Given the description of an element on the screen output the (x, y) to click on. 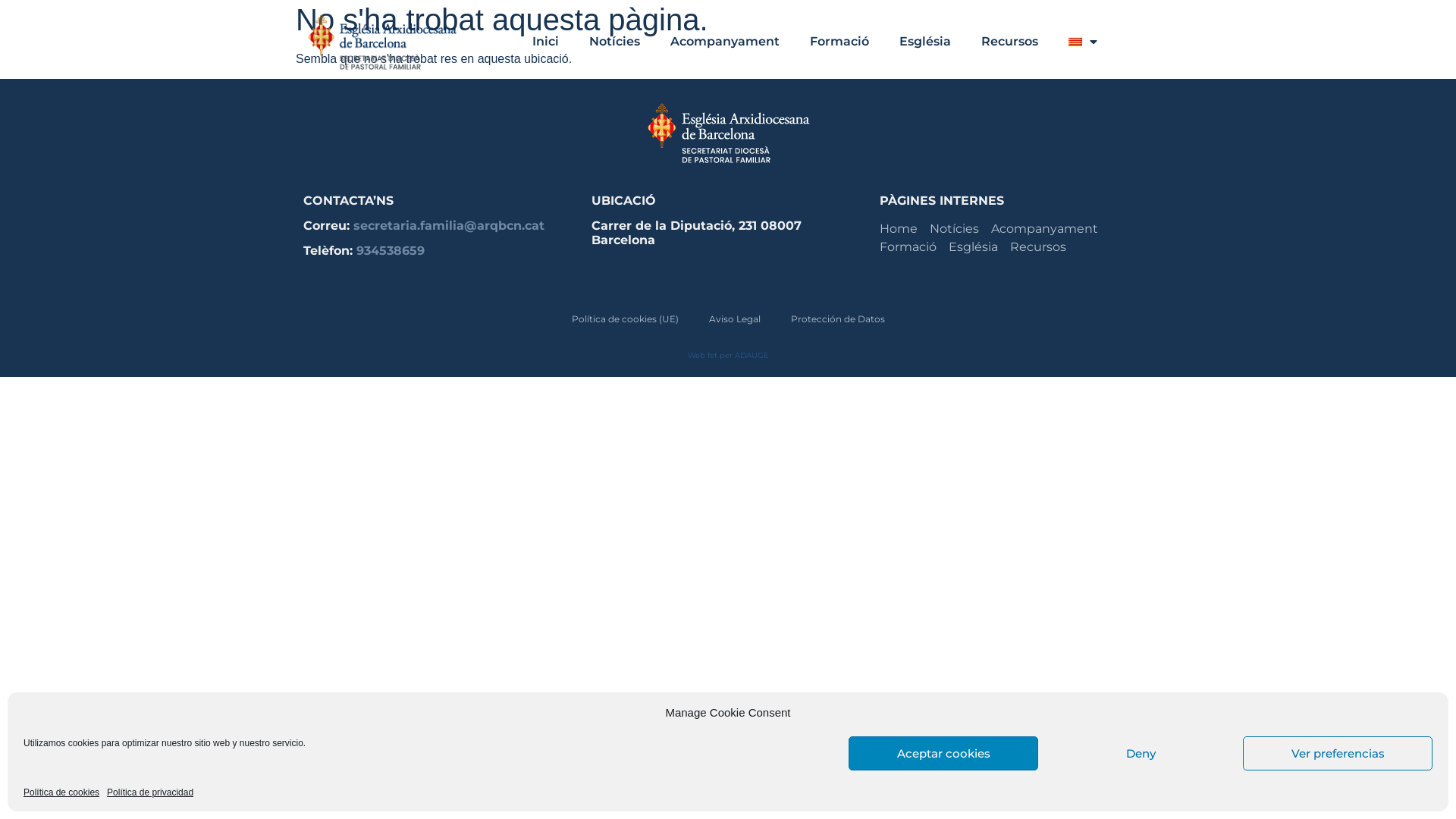
Acompanyament Element type: text (1044, 228)
Recursos Element type: text (1009, 41)
secretaria.familia@arqbcn.cat Element type: text (448, 225)
Acompanyament Element type: text (724, 41)
Inici Element type: text (545, 41)
Home Element type: text (898, 228)
Ver preferencias Element type: text (1337, 753)
Aceptar cookies Element type: text (943, 753)
Recursos Element type: text (1038, 247)
934538659 Element type: text (390, 250)
Web fet per ADAUGE Element type: text (727, 354)
Aviso Legal Element type: text (734, 318)
Deny Element type: text (1140, 753)
